Given the description of an element on the screen output the (x, y) to click on. 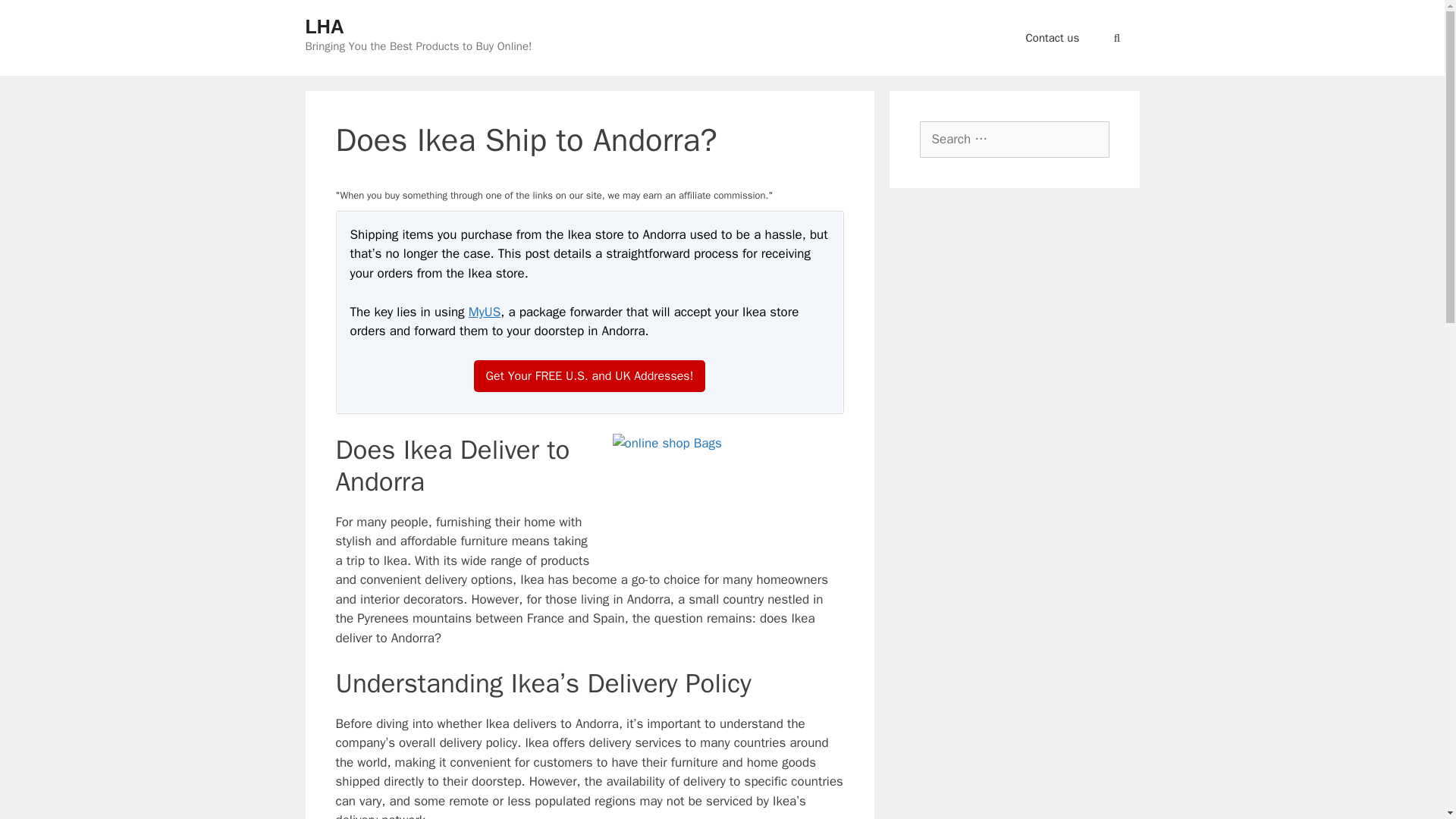
Contact us (1052, 37)
Get Your FREE U.S. and UK Addresses! (590, 376)
Search for: (1013, 139)
MyUS (484, 311)
LHA (323, 25)
Search (33, 15)
